Given the description of an element on the screen output the (x, y) to click on. 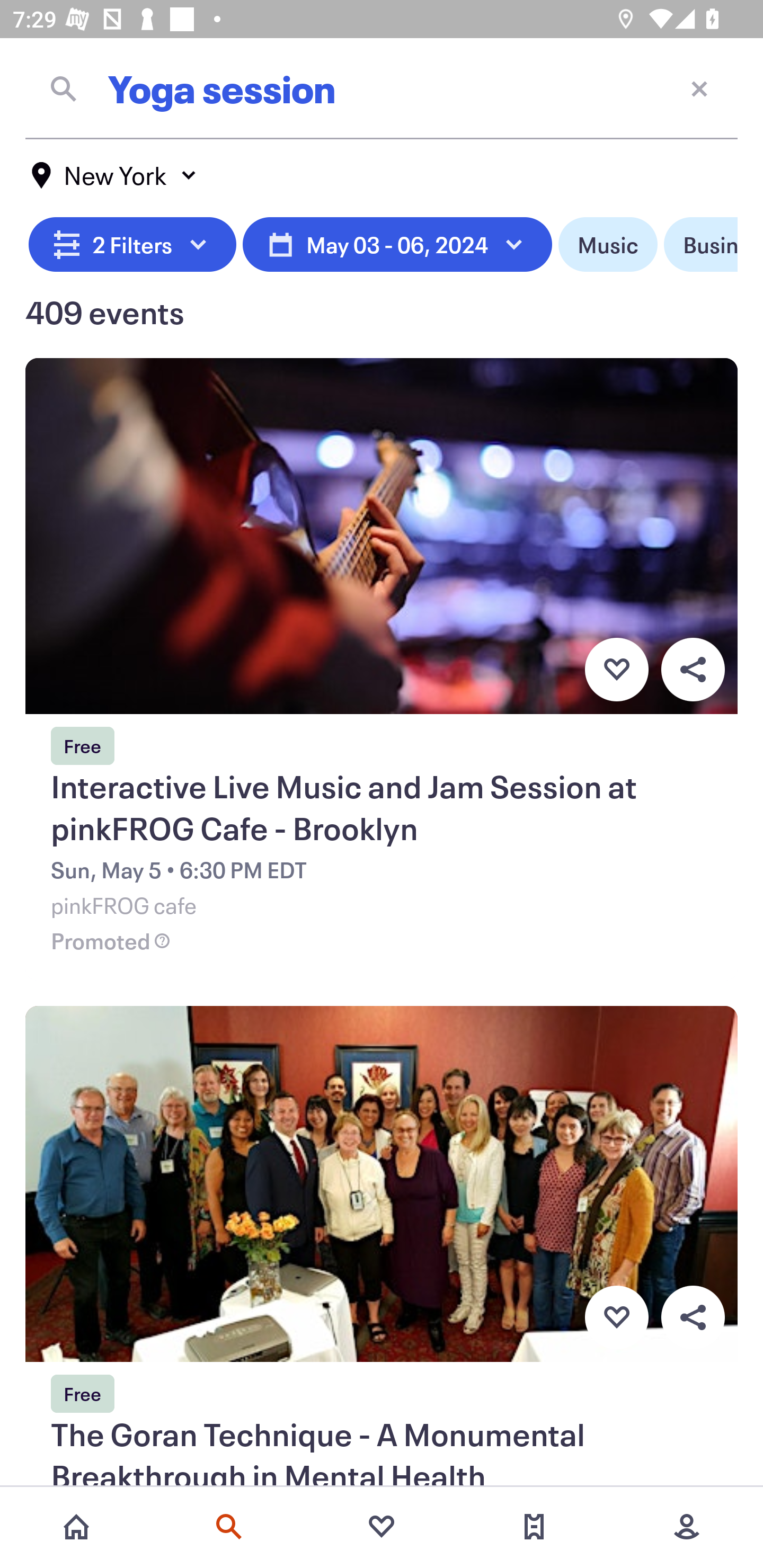
Yoga session Close current screen (381, 88)
Close current screen (699, 88)
New York (114, 175)
2 Filters (132, 244)
May 03 - 06, 2024 (397, 244)
Music (607, 244)
Business (700, 244)
Favorite button (616, 669)
Overflow menu button (692, 669)
Favorite button (616, 1317)
Overflow menu button (692, 1317)
Home (76, 1526)
Search events (228, 1526)
Favorites (381, 1526)
Tickets (533, 1526)
More (686, 1526)
